Given the description of an element on the screen output the (x, y) to click on. 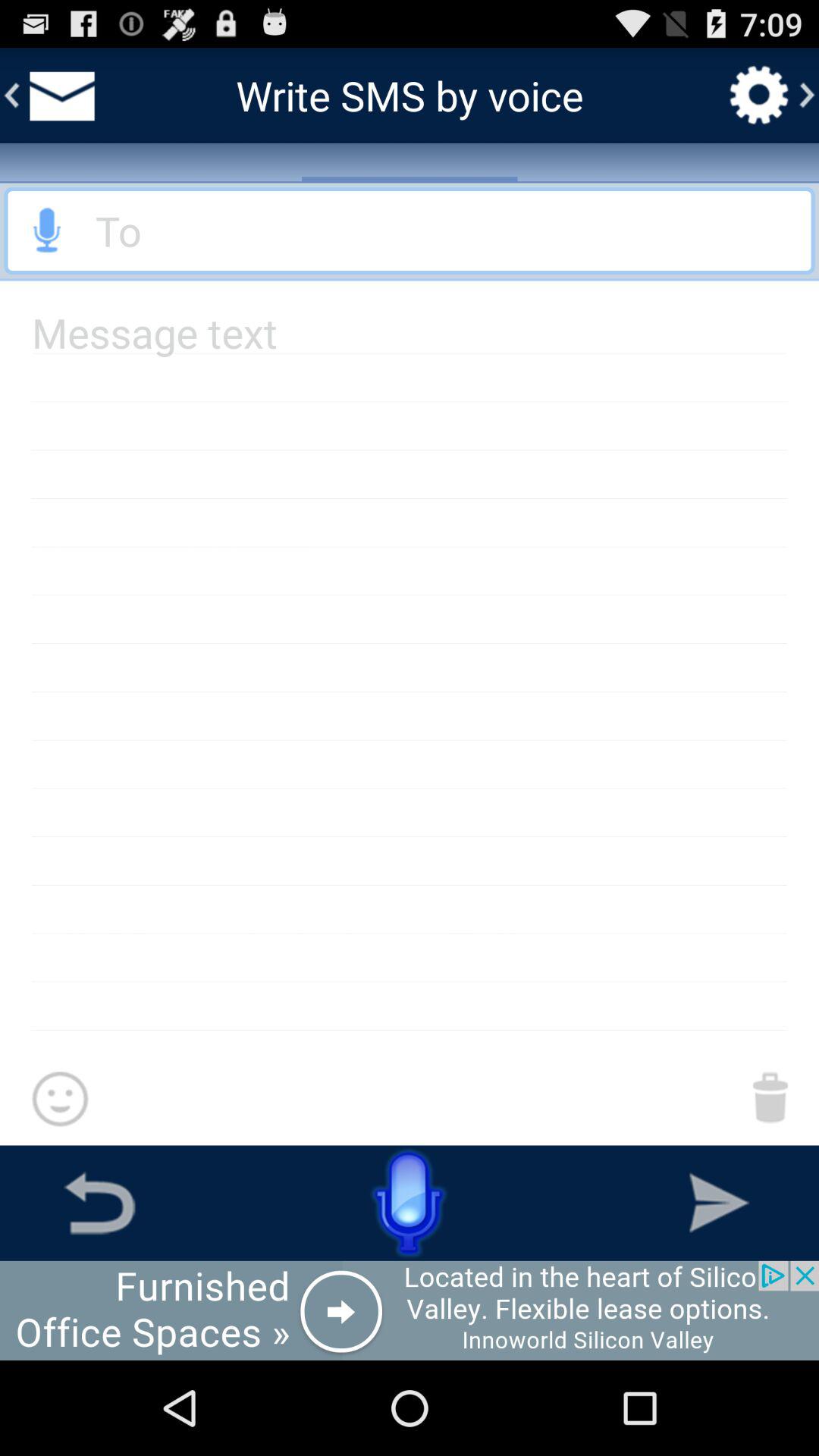
microphone (47, 230)
